Given the description of an element on the screen output the (x, y) to click on. 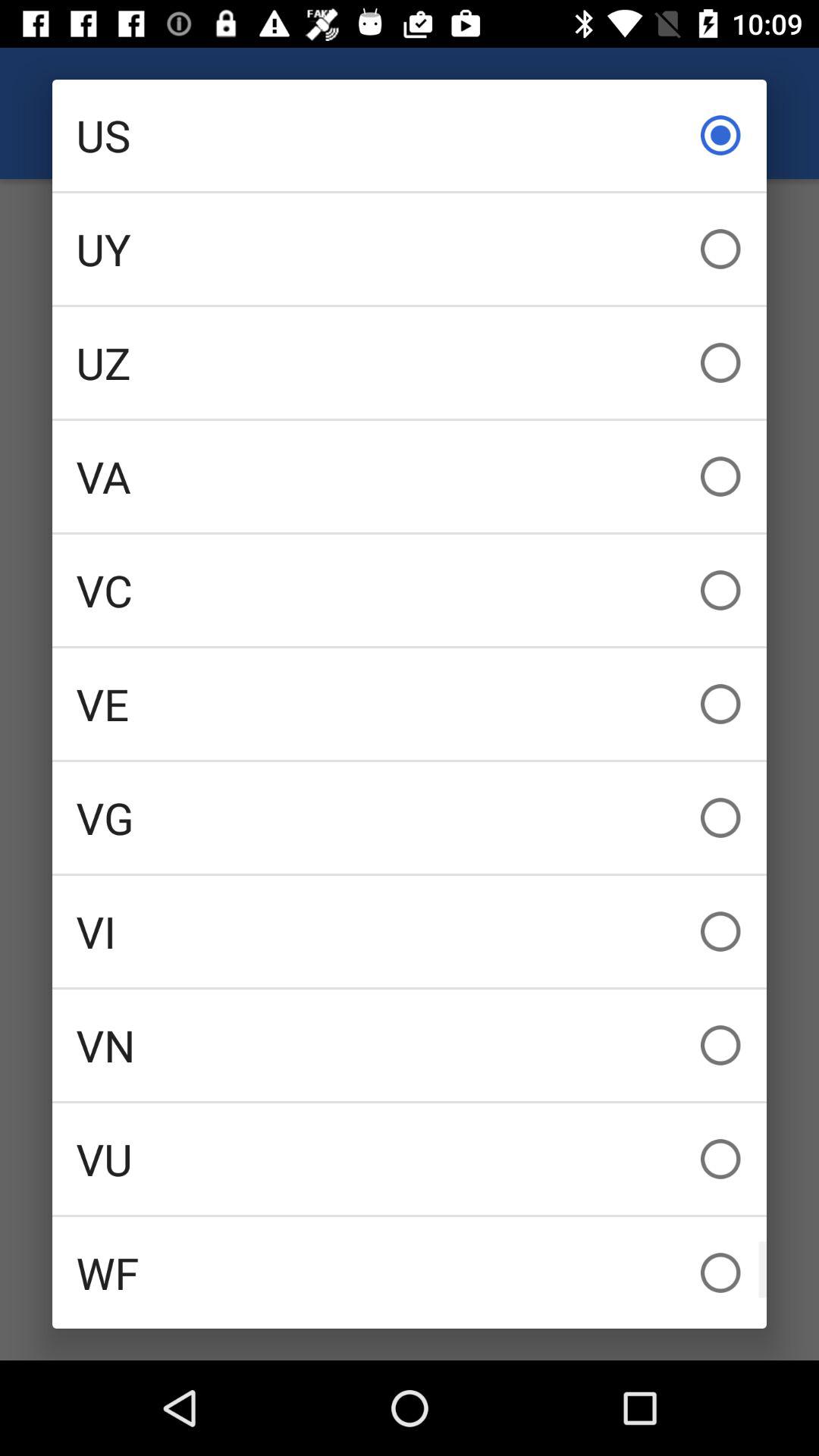
choose the item above wf item (409, 1158)
